Given the description of an element on the screen output the (x, y) to click on. 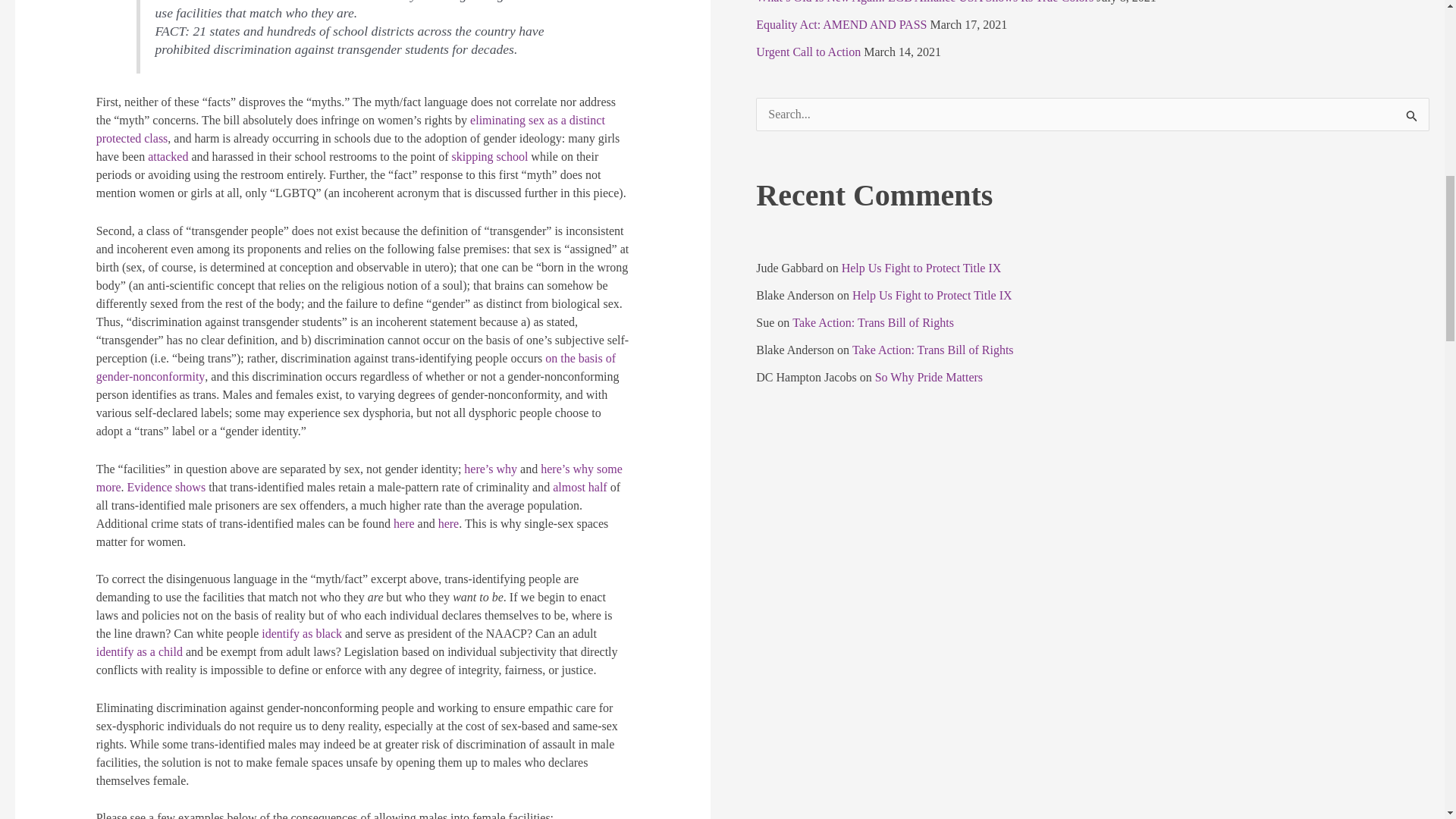
on the basis of gender-nonconformity (355, 367)
here (403, 522)
identify as black (302, 633)
Evidence shows (167, 486)
attacked (167, 155)
eliminating sex as a distinct protected class (350, 128)
here (449, 522)
almost half (580, 486)
skipping school (489, 155)
identify as a child (139, 651)
